Given the description of an element on the screen output the (x, y) to click on. 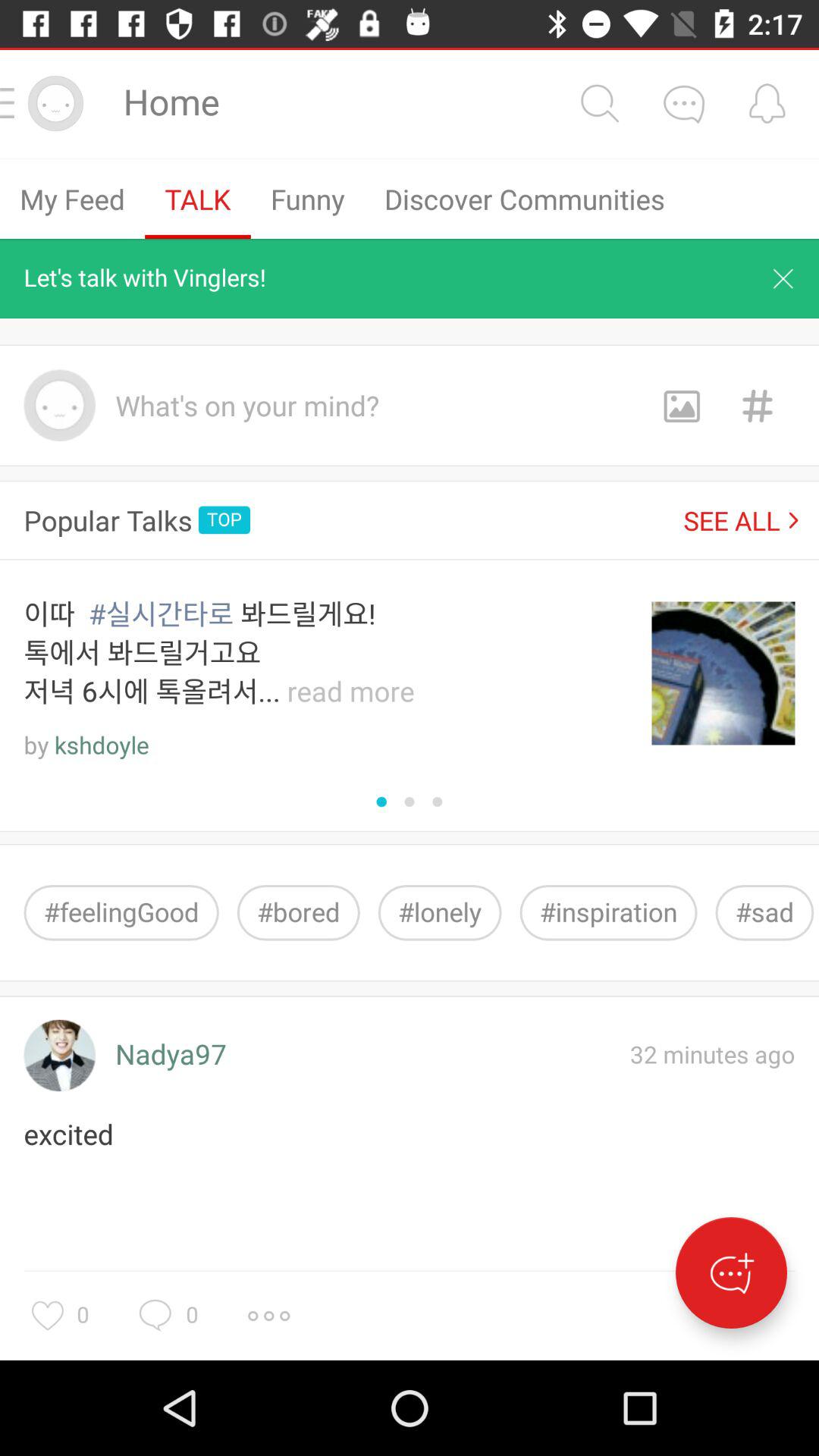
press the icon to the right of the #inspiration icon (764, 912)
